Given the description of an element on the screen output the (x, y) to click on. 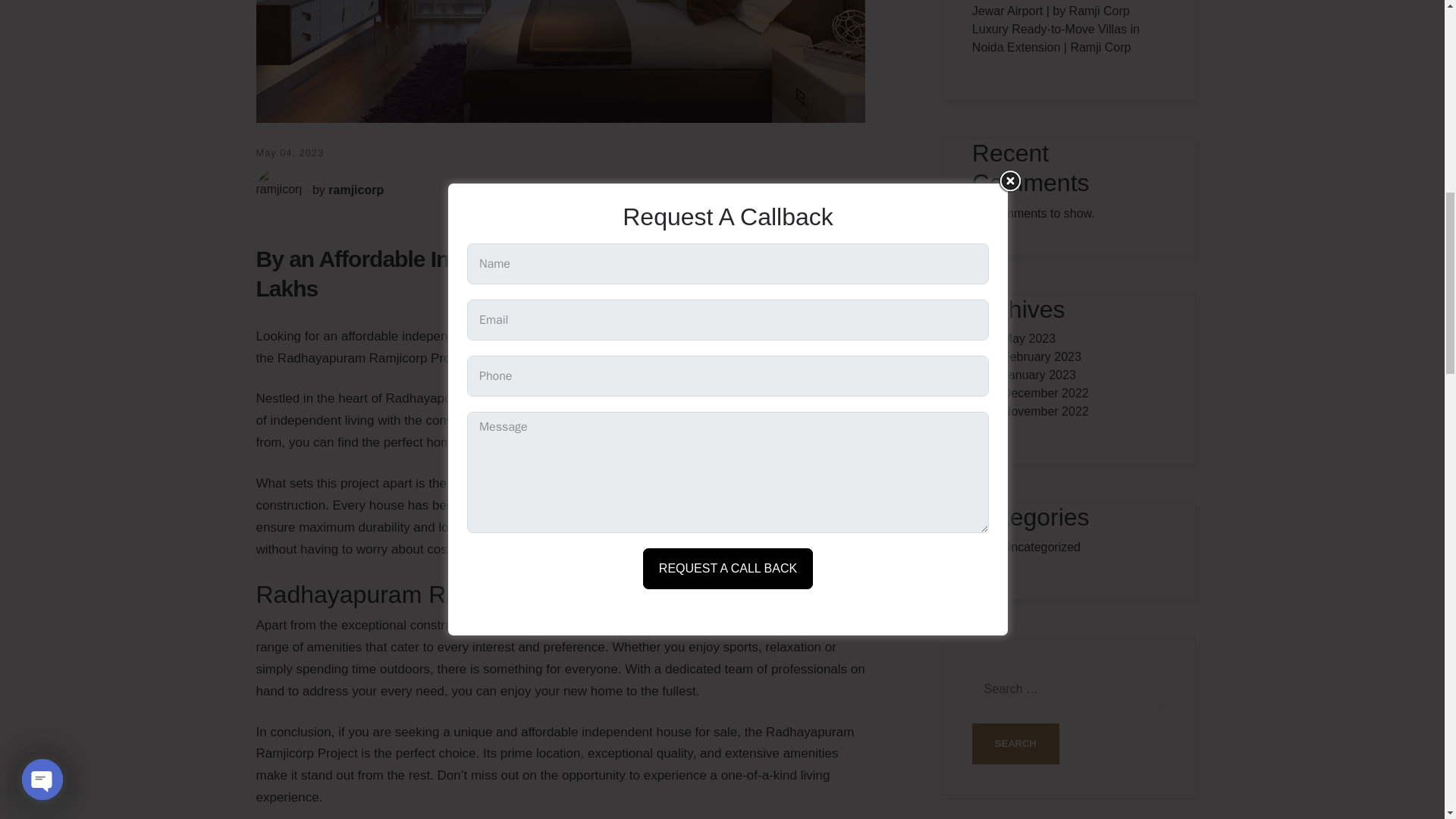
ramjicorp (356, 189)
January 2023 (1039, 374)
December 2022 (1046, 392)
Search (1015, 743)
February 2023 (1042, 356)
Search (1015, 743)
May 2023 (1029, 338)
November 2022 (1046, 410)
